Given the description of an element on the screen output the (x, y) to click on. 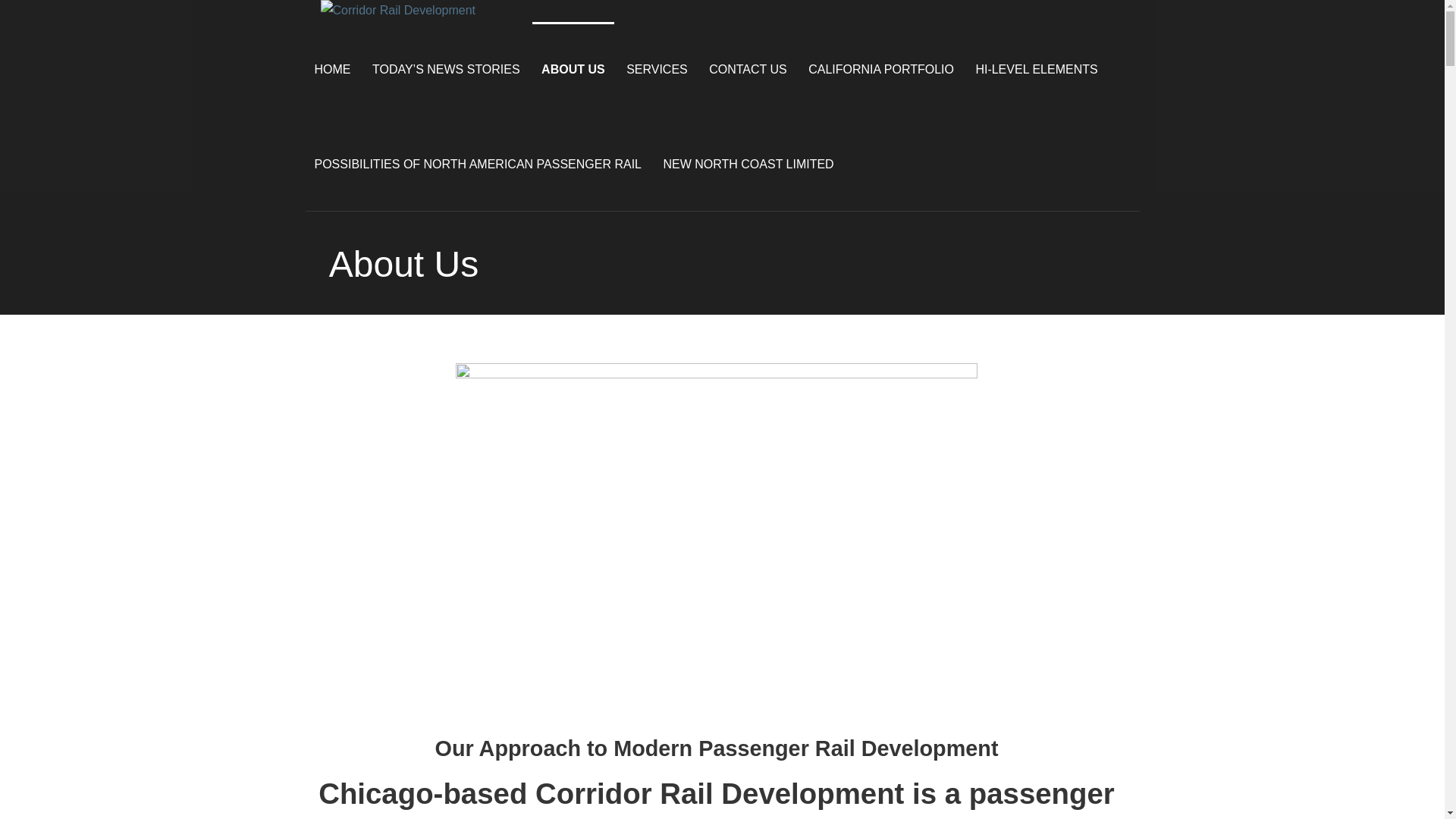
NEW NORTH COAST LIMITED (748, 163)
HI-LEVEL ELEMENTS (1036, 69)
POSSIBILITIES OF NORTH AMERICAN PASSENGER RAIL (477, 163)
CALIFORNIA PORTFOLIO (880, 69)
CONTACT US (748, 69)
